Given the description of an element on the screen output the (x, y) to click on. 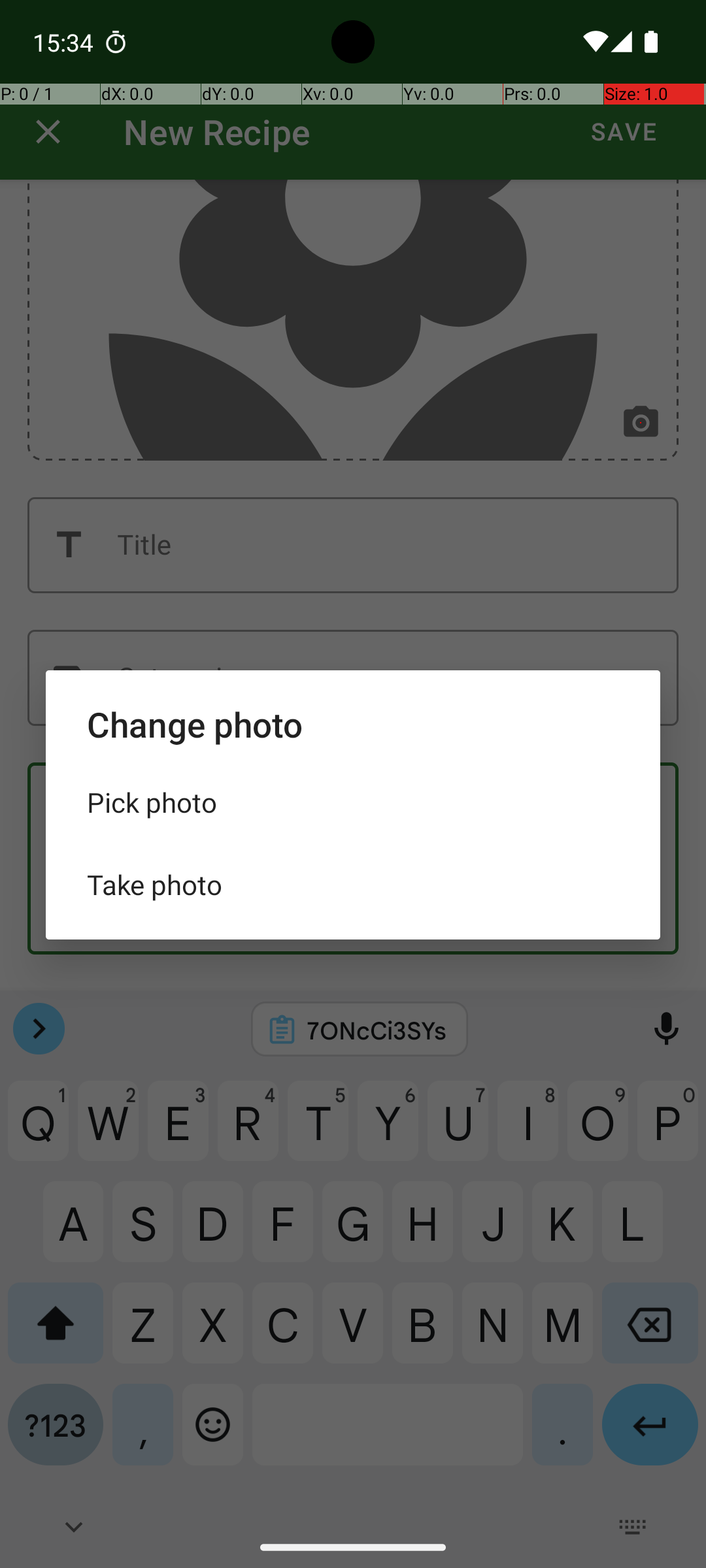
Pick photo Element type: android.widget.TextView (352, 802)
